Given the description of an element on the screen output the (x, y) to click on. 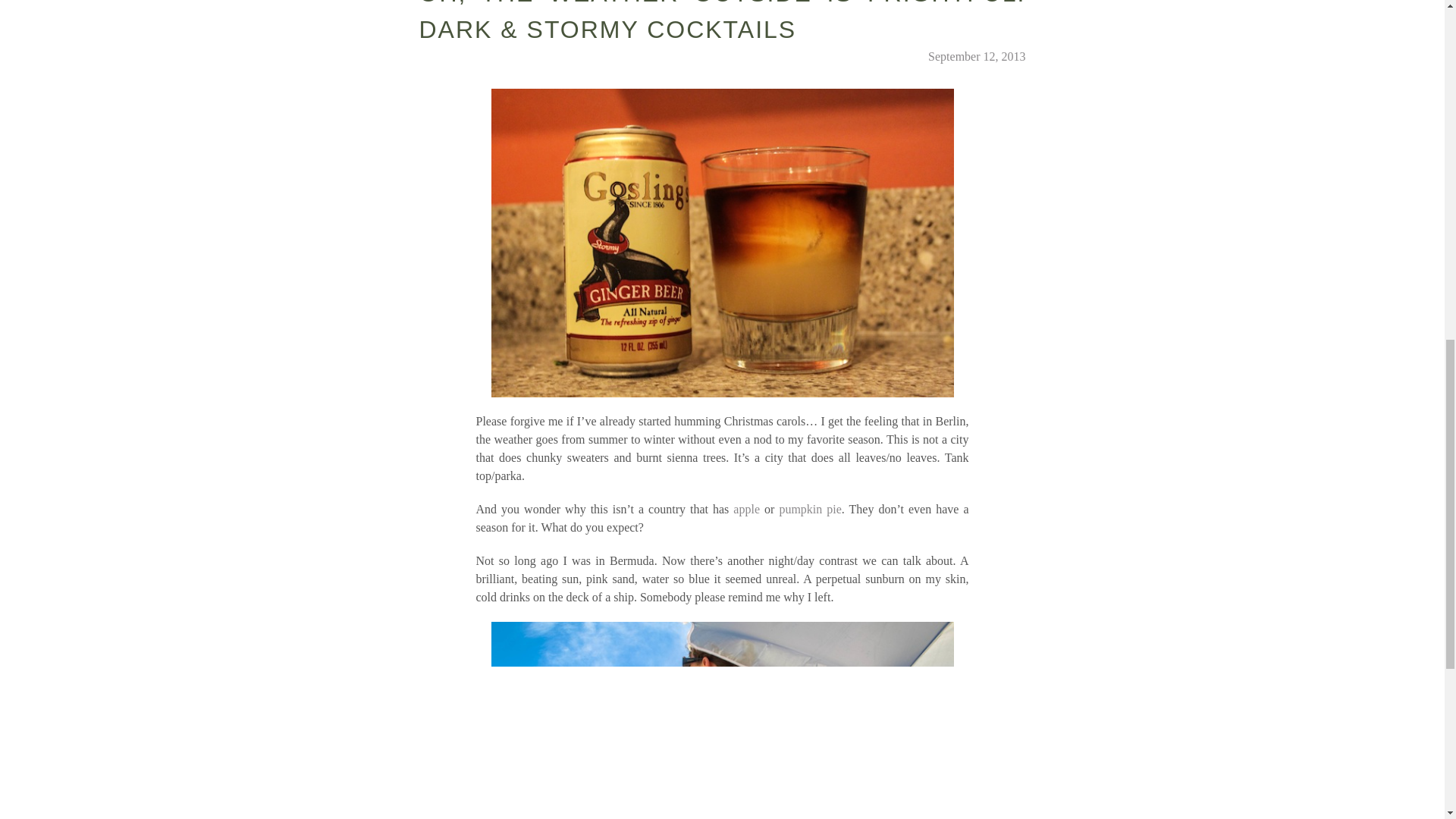
apple (746, 508)
Boo: Pumpkin Pie (809, 508)
pumpkin pie (809, 508)
This is It: Apple Pie (746, 508)
